Given the description of an element on the screen output the (x, y) to click on. 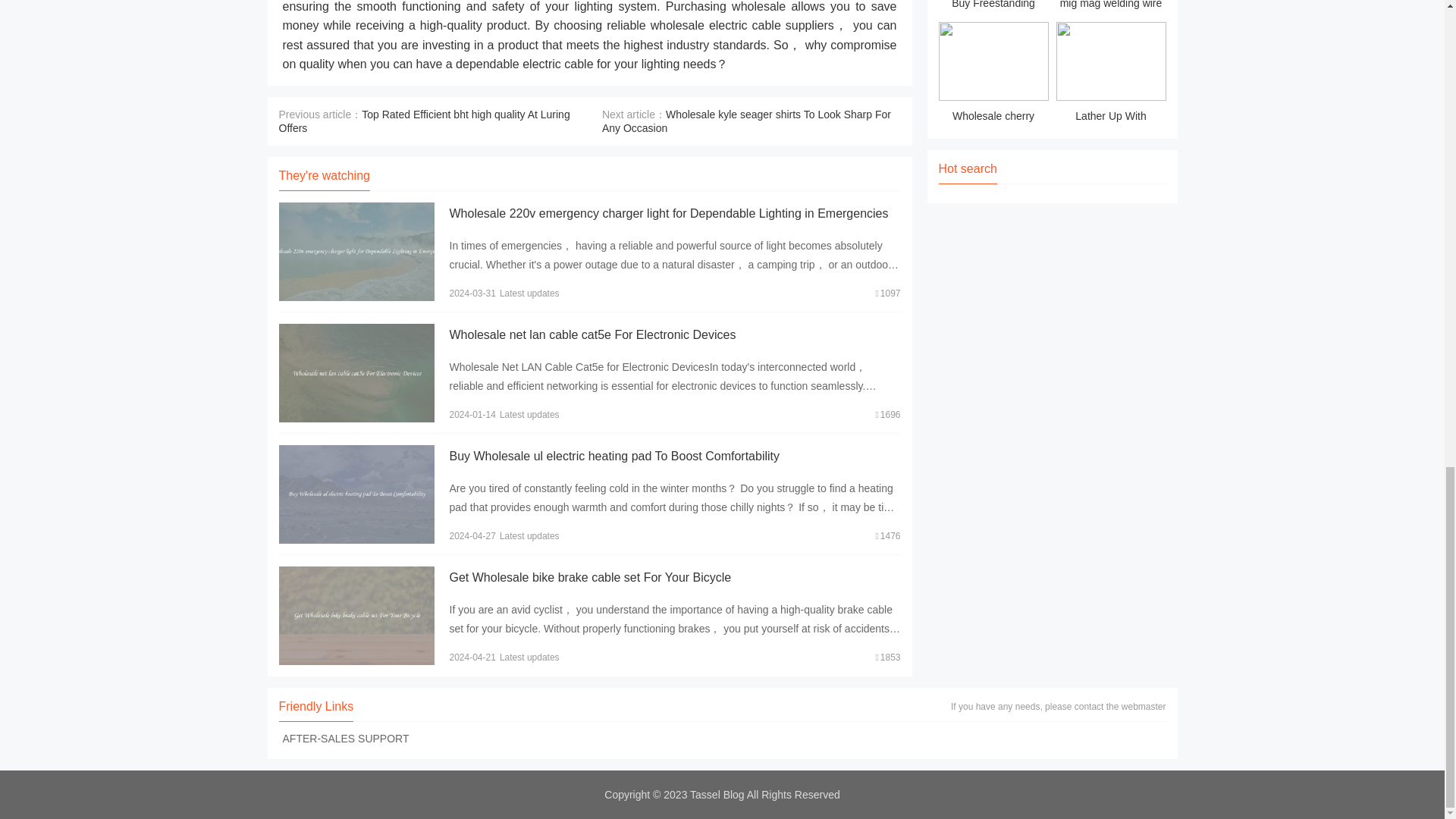
Buy Freestanding double side pop screen with Custom Designs (993, 7)
Wholesale kyle seager shirts To Look Sharp For Any Occasion (746, 121)
Get Wholesale bike brake cable set For Your Bicycle (589, 576)
Lather Up With Popular Wholesale wind washing (1110, 74)
Top Rated Efficient bht high quality At Luring Offers (424, 121)
AFTER-SALES SUPPORT (346, 738)
Wholesale net lan cable cat5e For Electronic Devices (591, 334)
